Given the description of an element on the screen output the (x, y) to click on. 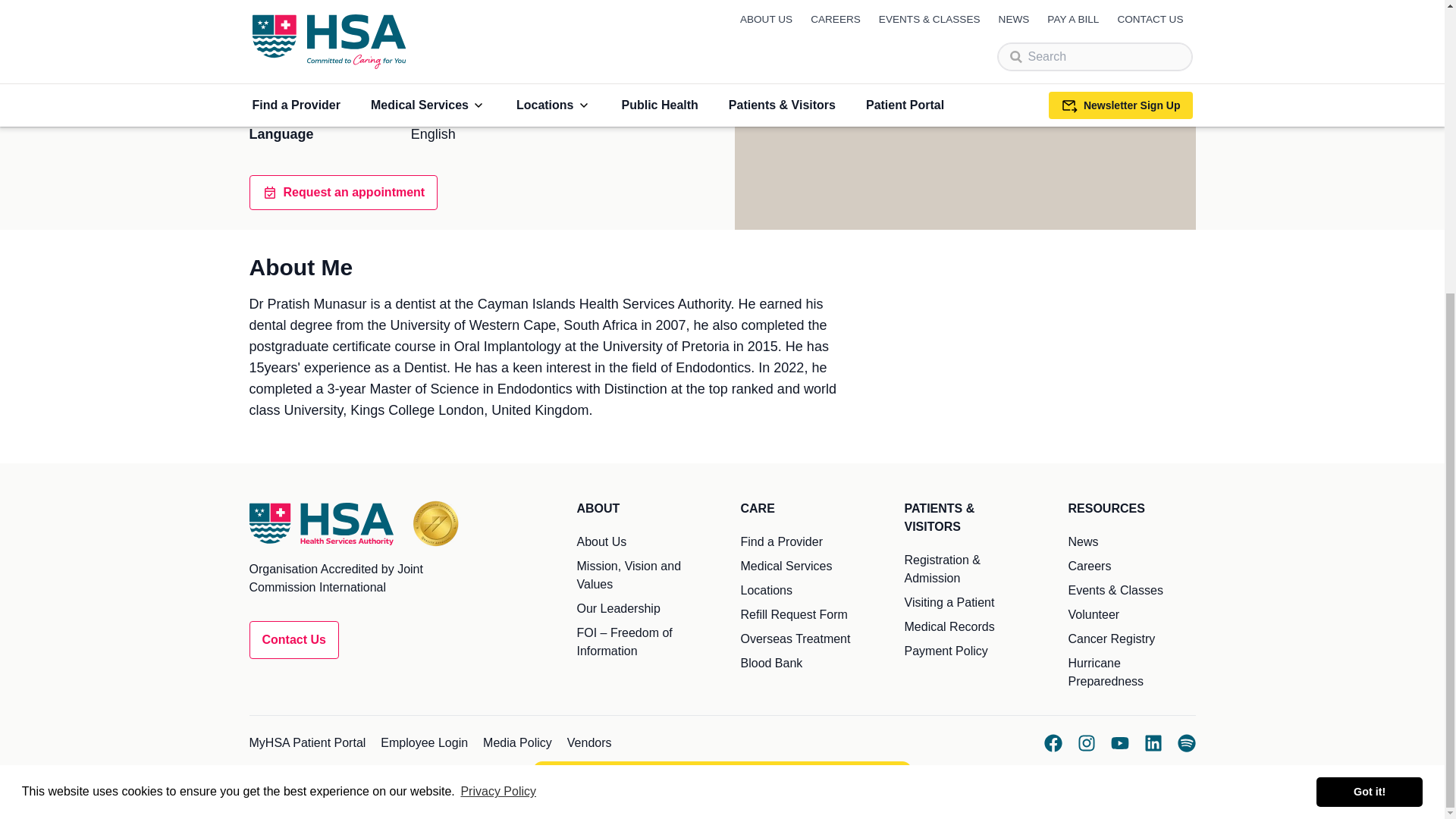
Got it! (1369, 341)
Privacy Policy (498, 341)
